Given the description of an element on the screen output the (x, y) to click on. 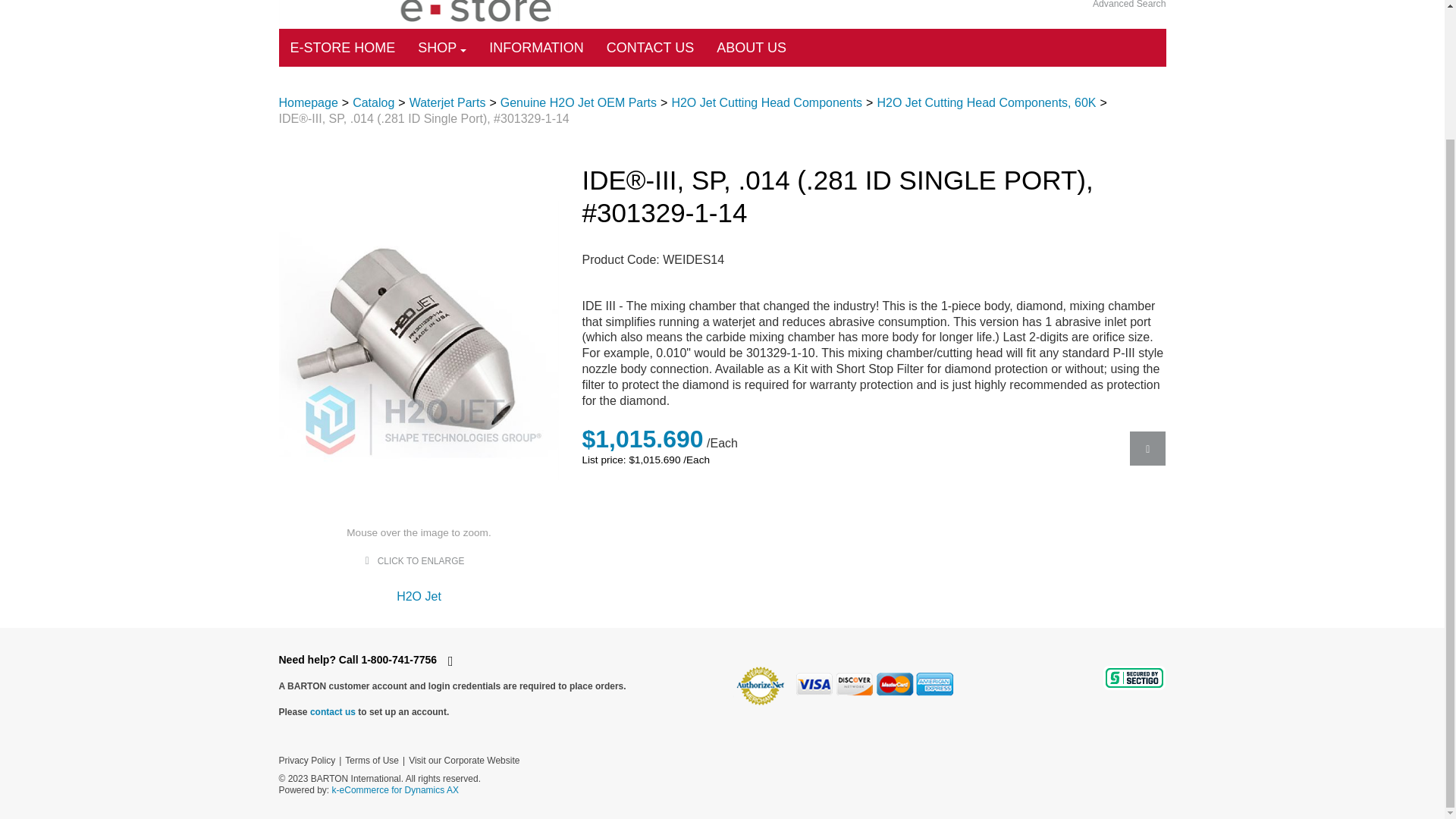
E-STORE HOME (343, 47)
Corporate Website (464, 760)
Terms of Use (371, 760)
Terms of Use (371, 760)
k-eCommerce for Dynamics AX (394, 789)
H2O Jet (418, 595)
Advanced Search (1129, 6)
ABOUT US (750, 47)
SHOP (441, 47)
Waterjet Parts (447, 102)
Visit our Corporate Website (464, 760)
contact us (332, 711)
H2O Jet Cutting Head Components (766, 102)
INFORMATION (536, 47)
CLICK TO ENLARGE (421, 561)
